Given the description of an element on the screen output the (x, y) to click on. 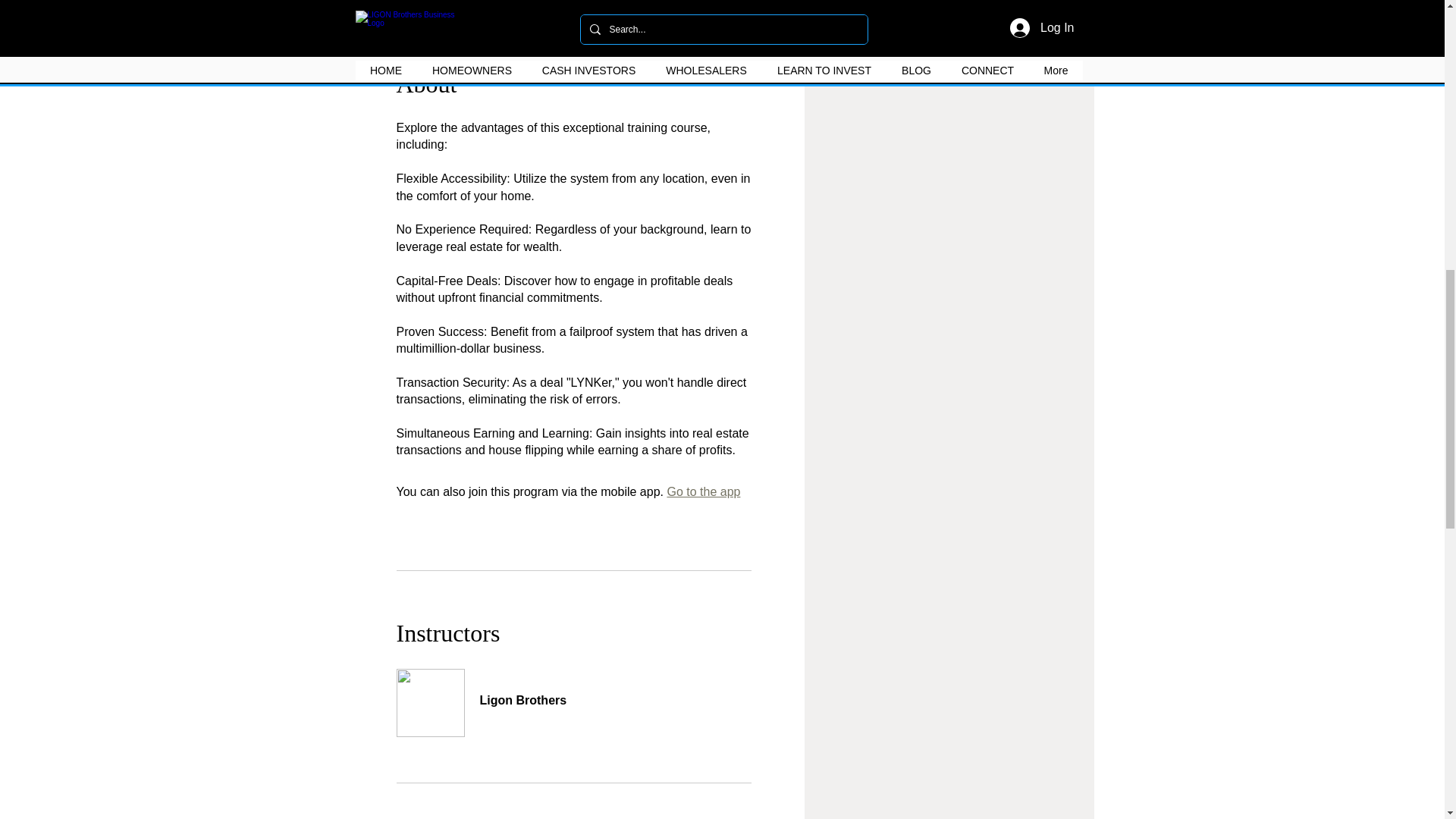
Ligon Brothers (573, 691)
Go to the app (702, 491)
